Given the description of an element on the screen output the (x, y) to click on. 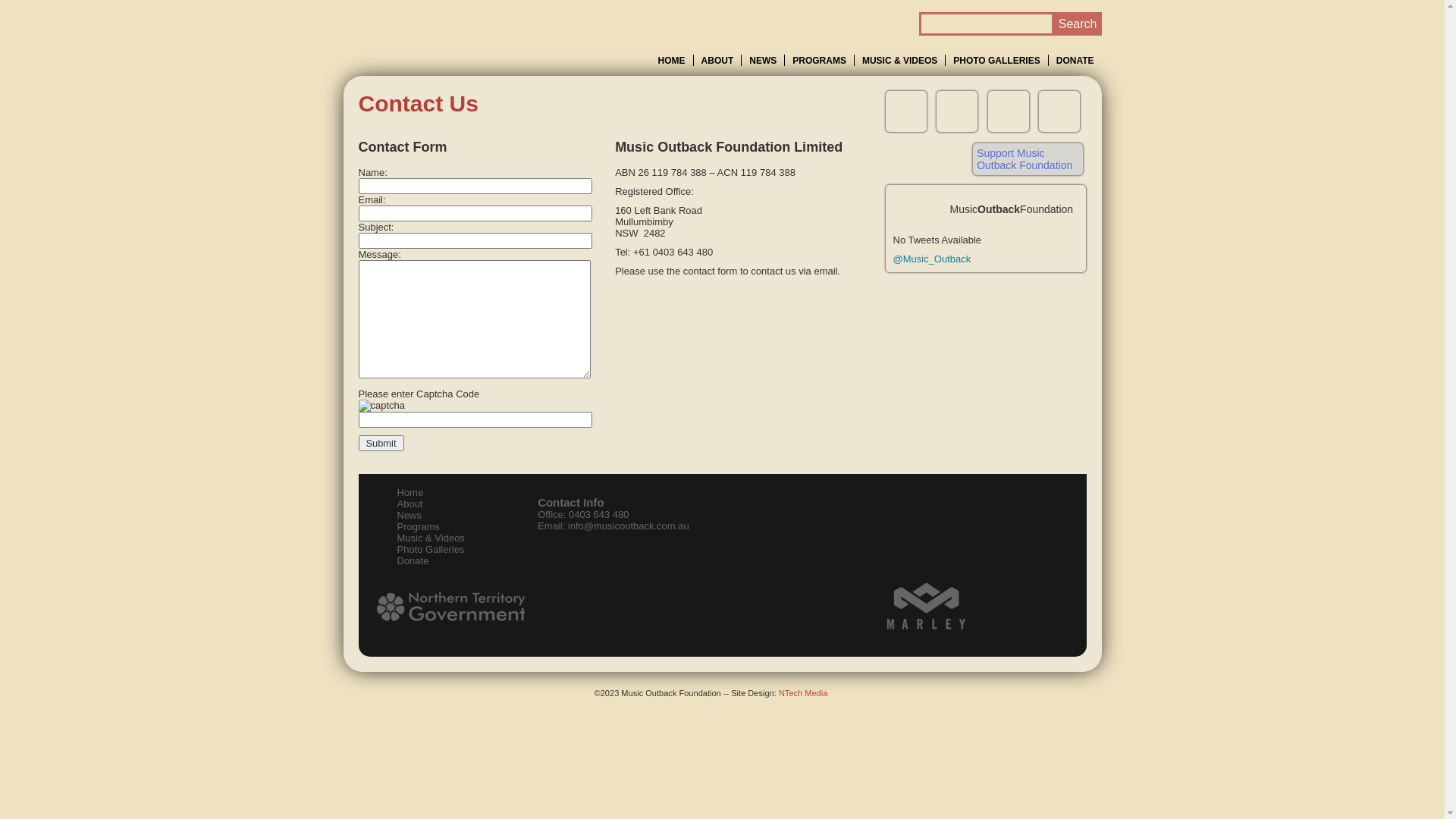
NEWS Element type: text (762, 60)
info@musicoutback.com.au Element type: text (628, 525)
Support Music
Outback Foundation Element type: text (1027, 159)
Donate Element type: text (413, 560)
@Music_Outback Element type: text (932, 258)
News Element type: text (409, 514)
MUSIC & VIDEOS Element type: text (899, 60)
Programs Element type: text (418, 526)
HOME Element type: text (671, 60)
NTech Media Element type: text (802, 692)
Submit Element type: text (380, 443)
About Element type: text (410, 503)
Music & Videos Element type: text (430, 537)
ABOUT Element type: text (717, 60)
PHOTO GALLERIES Element type: text (996, 60)
PROGRAMS Element type: text (819, 60)
DONATE Element type: text (1075, 60)
Search Element type: text (1077, 23)
Photo Galleries Element type: text (430, 549)
Home Element type: text (410, 492)
